Given the description of an element on the screen output the (x, y) to click on. 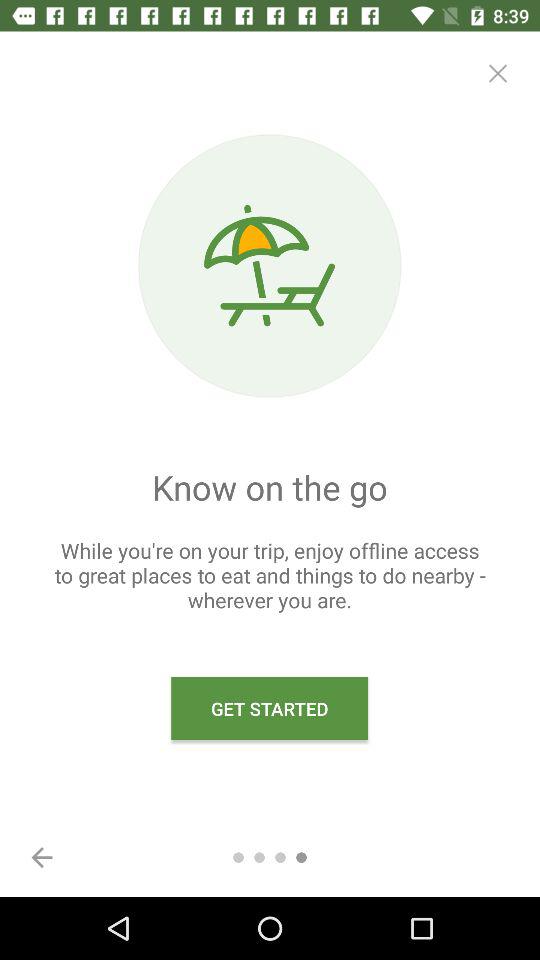
click get started item (269, 708)
